Given the description of an element on the screen output the (x, y) to click on. 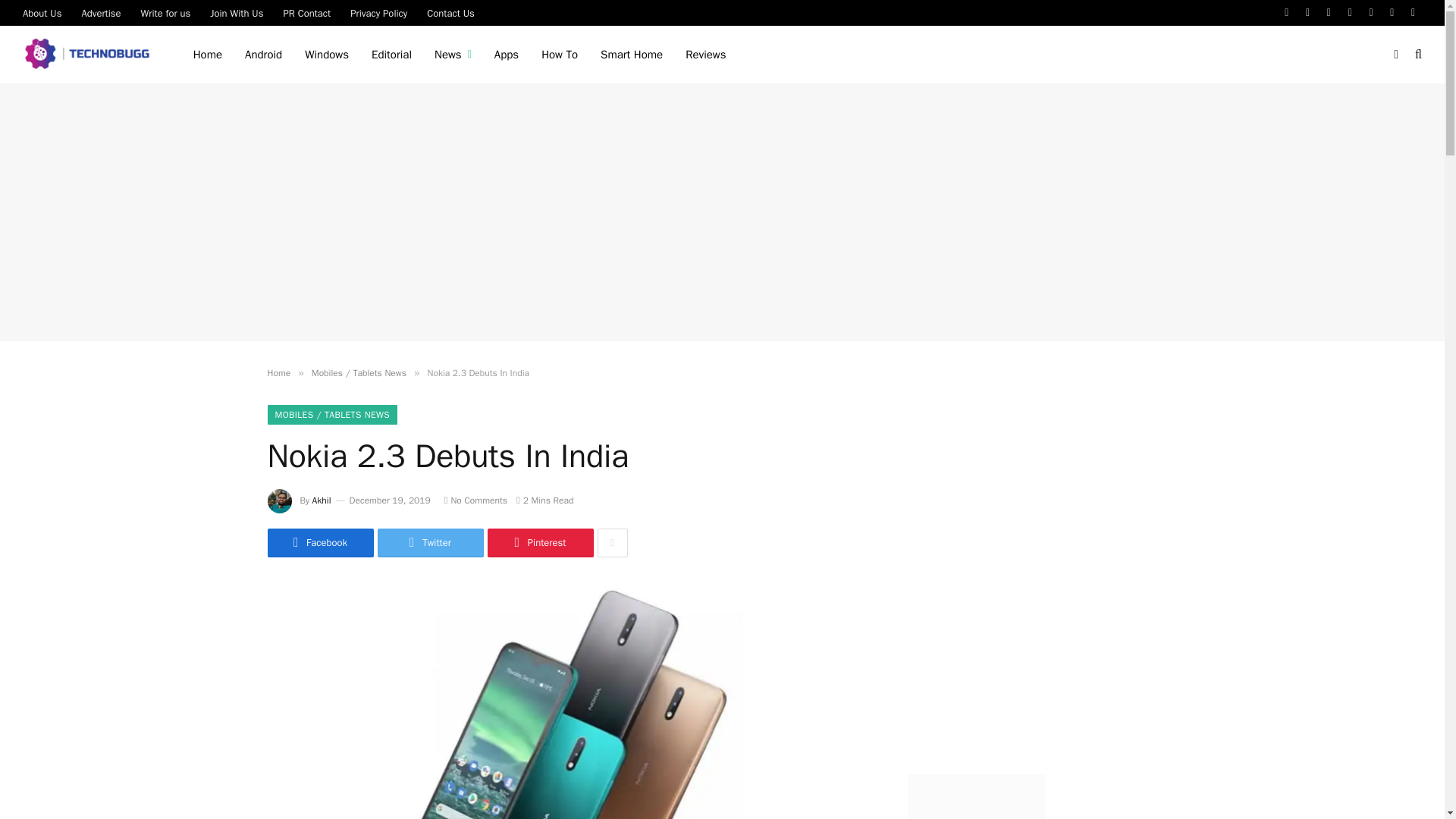
Contact Us (450, 12)
Share on Pinterest (539, 542)
Posts by Akhil (322, 500)
Join With Us (236, 12)
TechnoBugg (89, 54)
Smart Home (631, 54)
PR Contact (306, 12)
Switch to Dark Design - easier on eyes. (1396, 54)
Home (207, 54)
Editorial (391, 54)
